Given the description of an element on the screen output the (x, y) to click on. 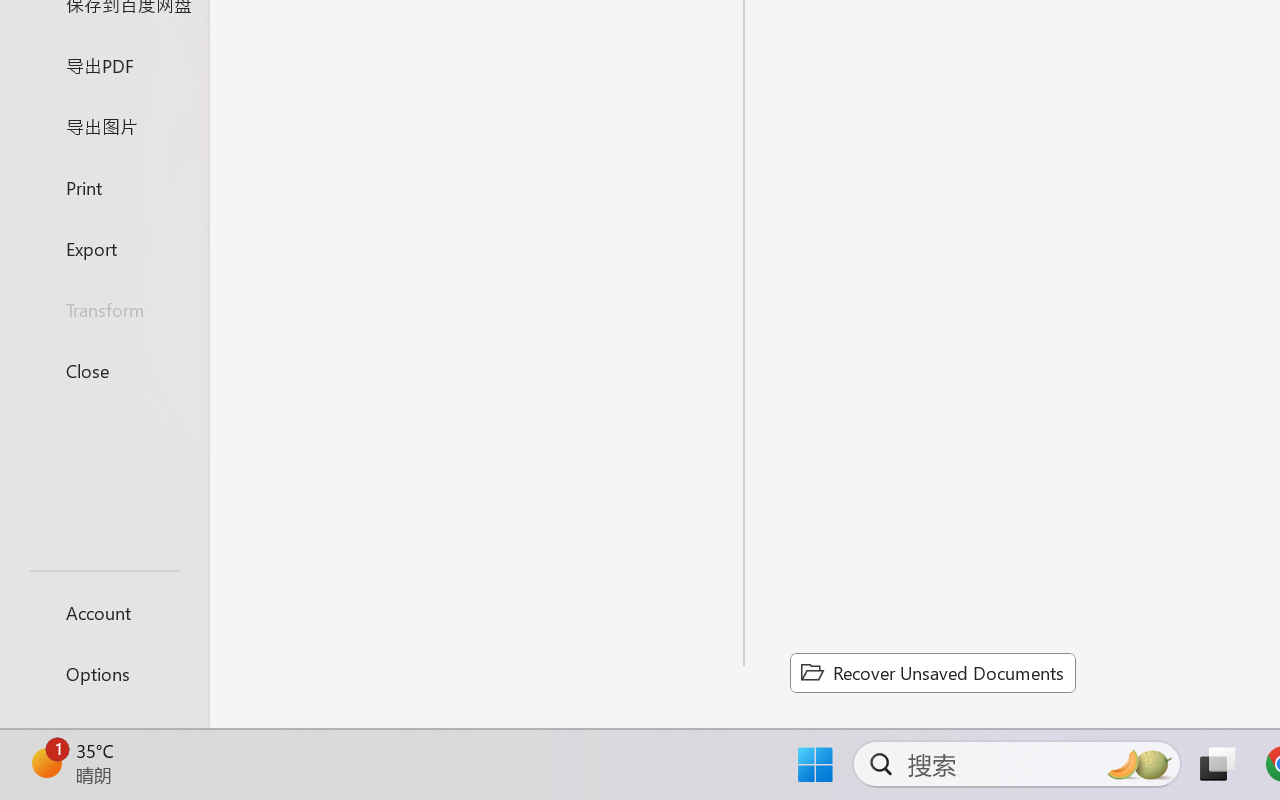
Transform (104, 309)
Account (104, 612)
Export (104, 248)
Print (104, 186)
Options (104, 673)
Recover Unsaved Documents (932, 672)
